Given the description of an element on the screen output the (x, y) to click on. 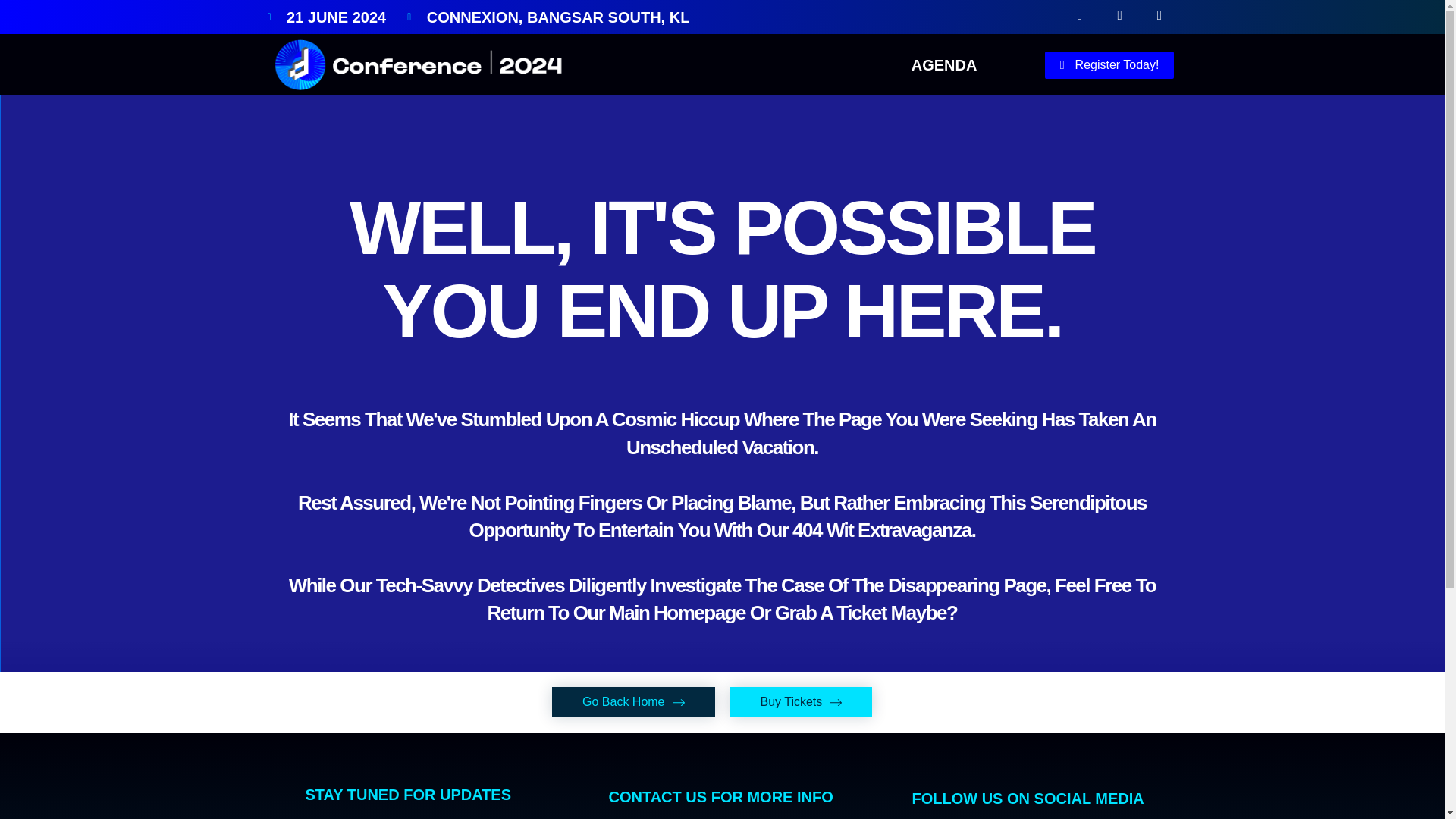
Register Today! (1109, 64)
AGENDA (944, 64)
Arrow-Icon-Size3 (835, 702)
Arrow-Icon-Size3 (800, 702)
